Given the description of an element on the screen output the (x, y) to click on. 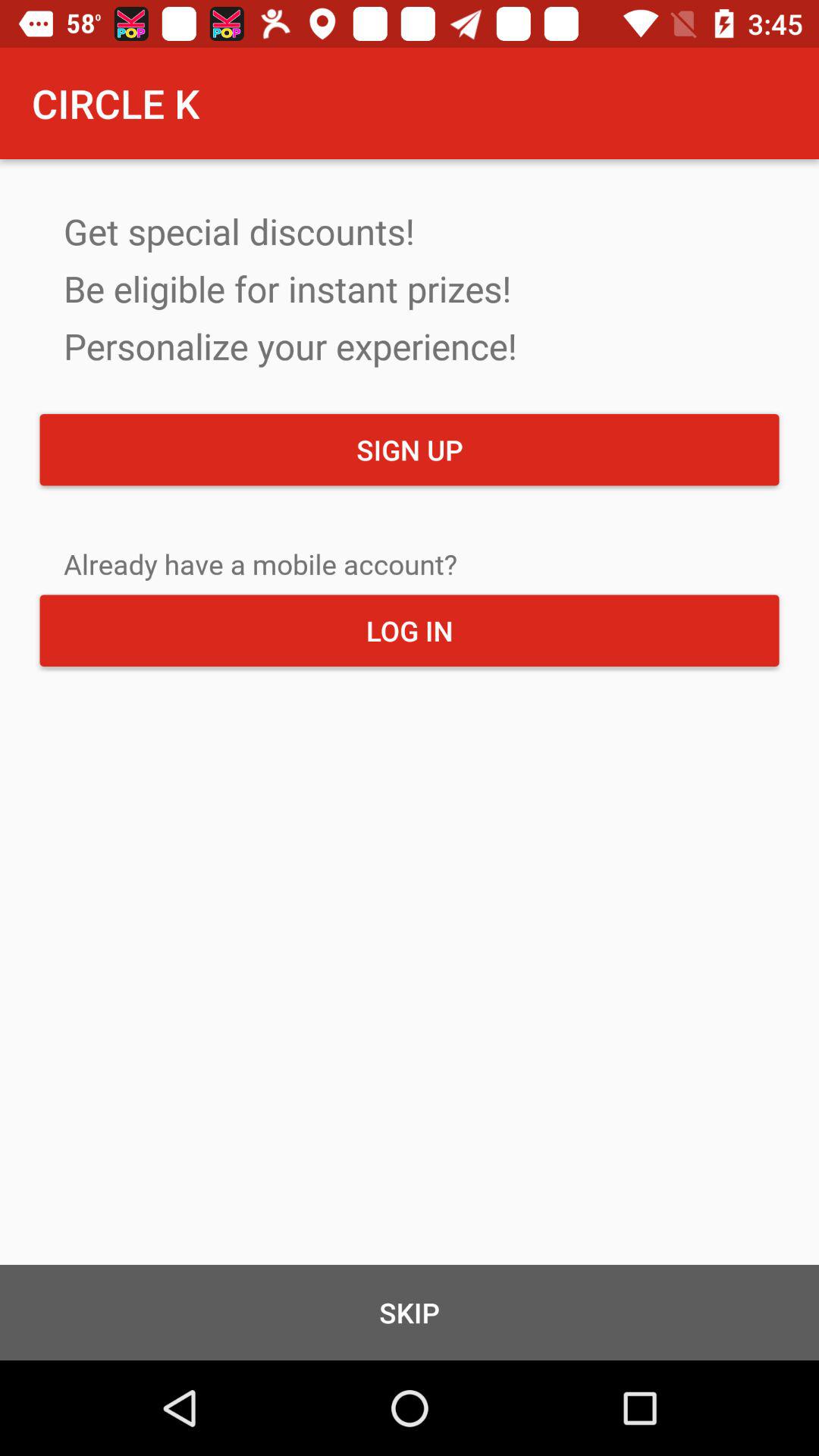
jump until the skip (409, 1312)
